Given the description of an element on the screen output the (x, y) to click on. 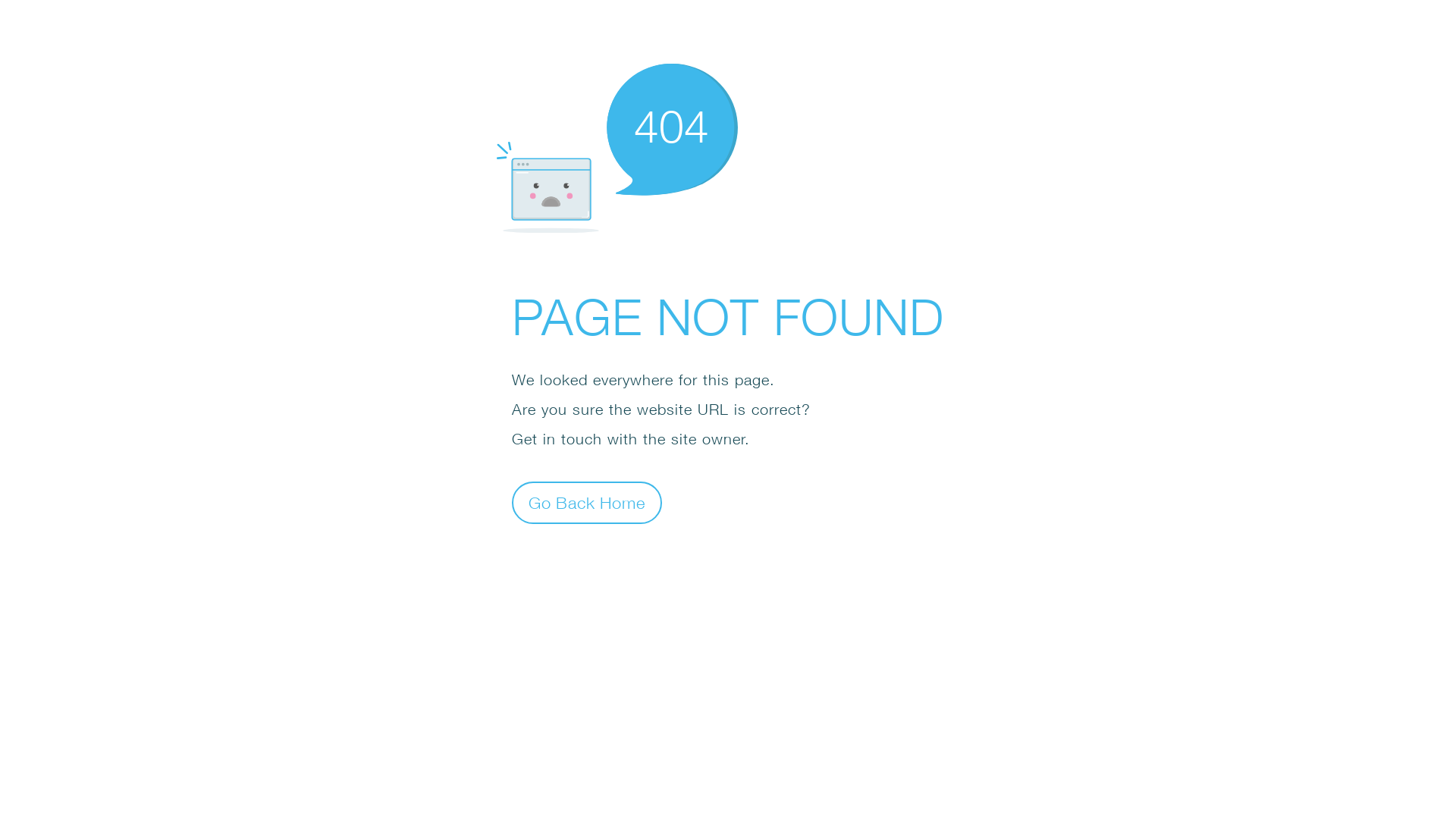
Go Back Home Element type: text (586, 502)
